Given the description of an element on the screen output the (x, y) to click on. 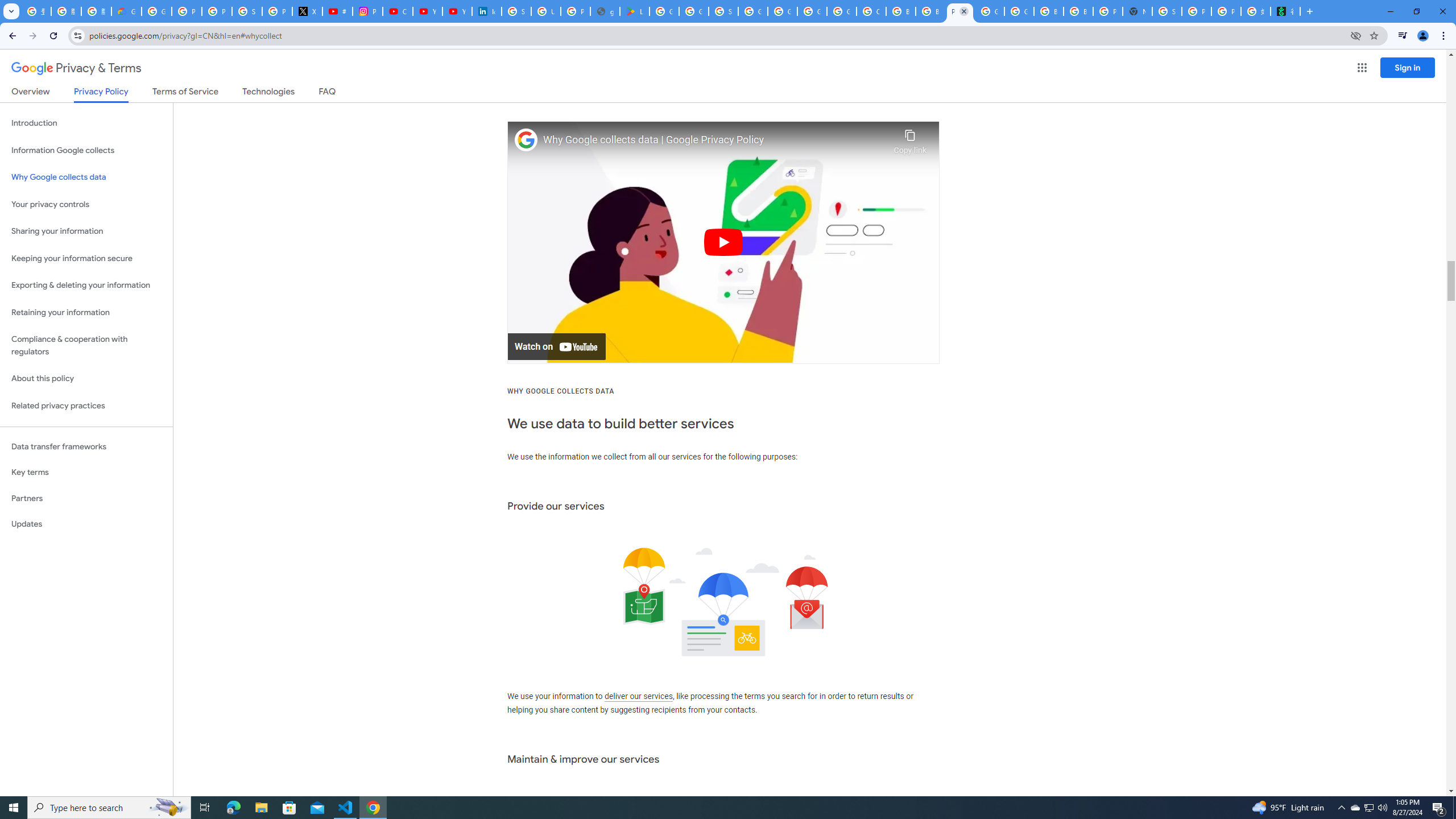
Google Cloud Platform (989, 11)
deliver our services (638, 696)
Google Cloud Platform (811, 11)
Last Shelter: Survival - Apps on Google Play (634, 11)
Partners (86, 497)
Exporting & deleting your information (86, 284)
About this policy (86, 379)
Data transfer frameworks (86, 446)
Technologies (268, 93)
